Given the description of an element on the screen output the (x, y) to click on. 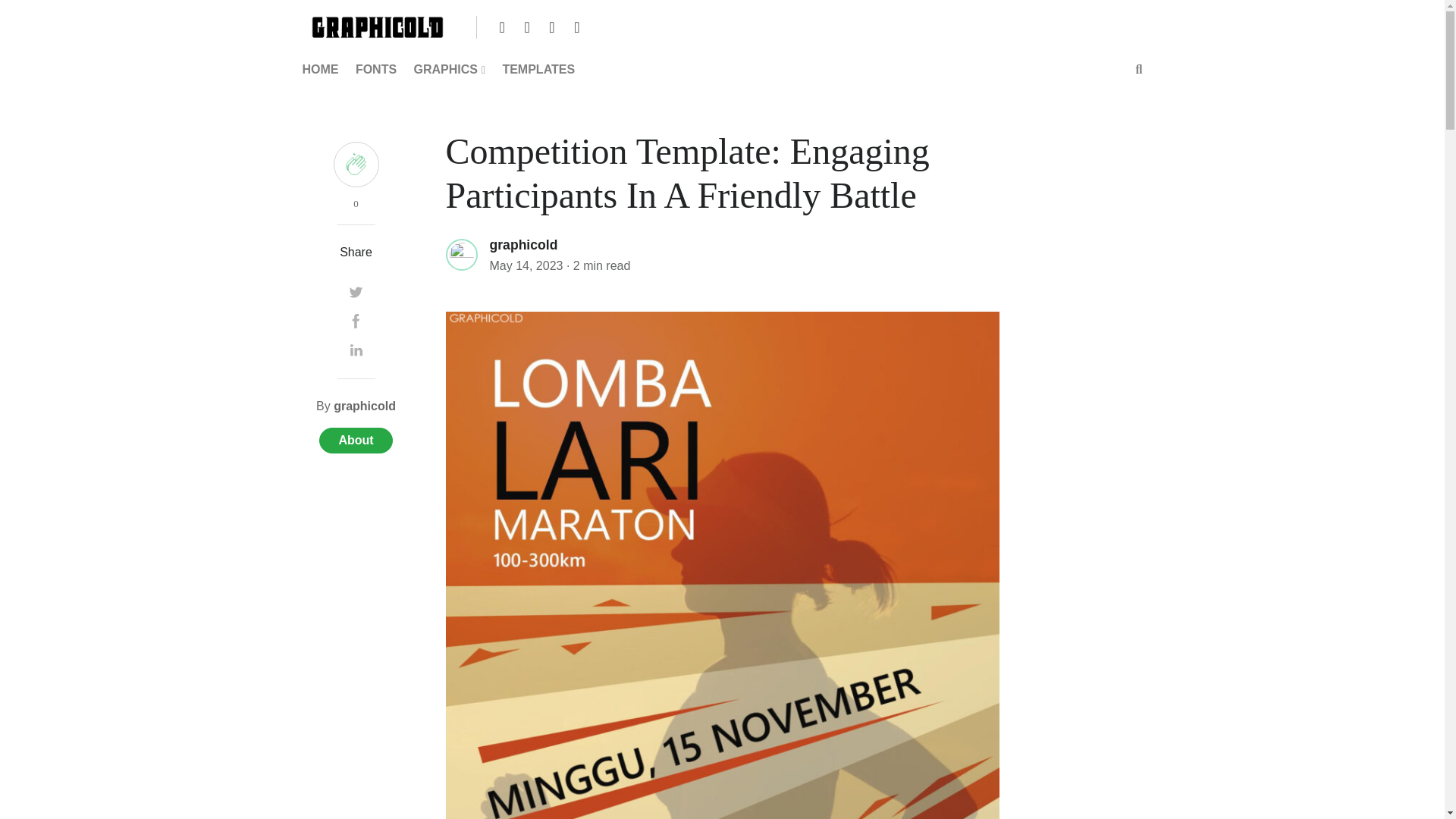
graphicold (364, 405)
About (354, 440)
Posts by graphicold (364, 405)
FONTS (376, 69)
HOME (323, 69)
Posts by graphicold (523, 244)
GRAPHICS (448, 69)
TEMPLATES (538, 69)
graphicold (523, 243)
